Given the description of an element on the screen output the (x, y) to click on. 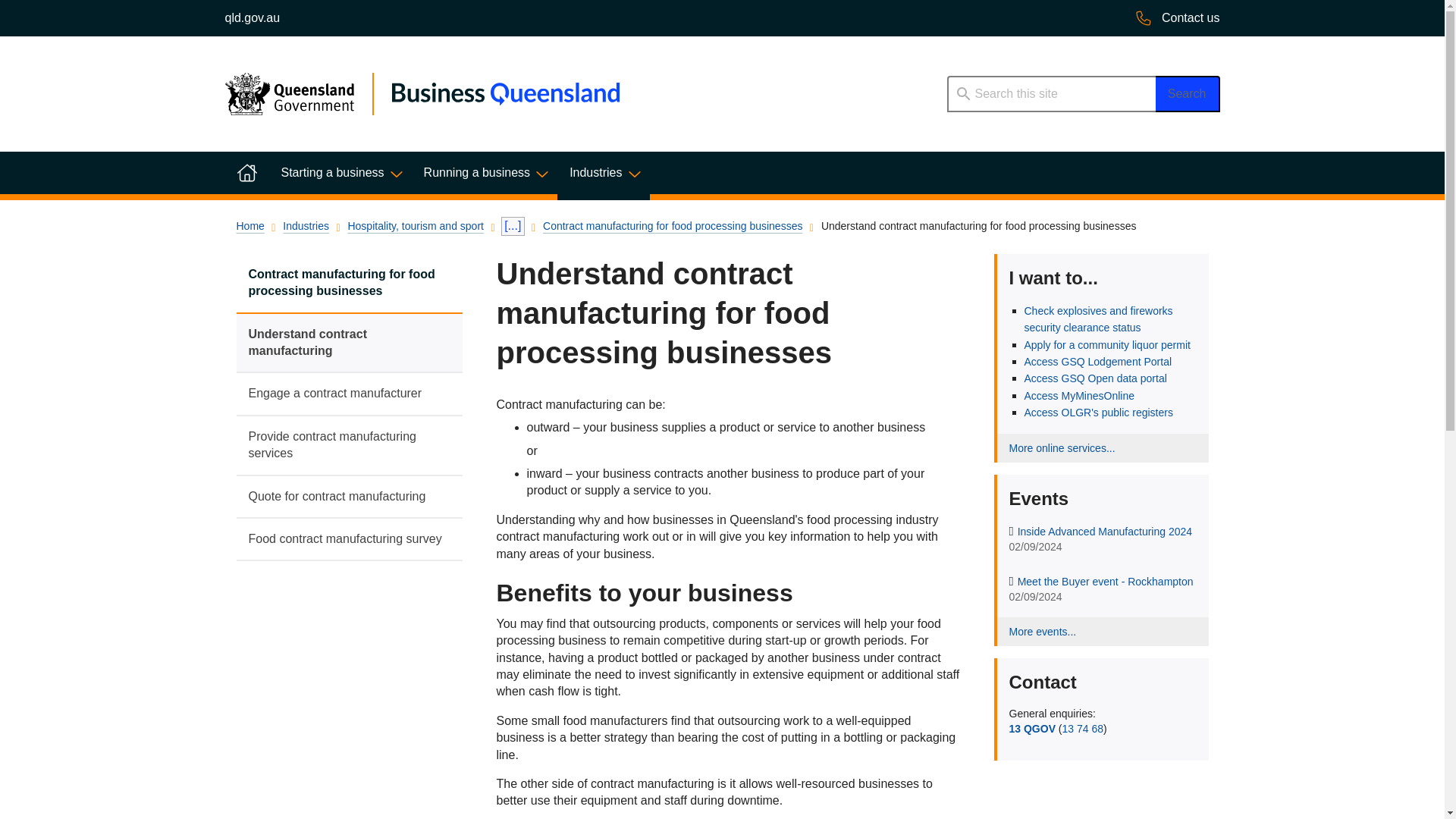
qld.gov.au (251, 18)
Contact us (1177, 18)
Search this site (1050, 94)
Home (245, 172)
Search (1188, 94)
Running a business (484, 172)
Starting a business (338, 172)
